Given the description of an element on the screen output the (x, y) to click on. 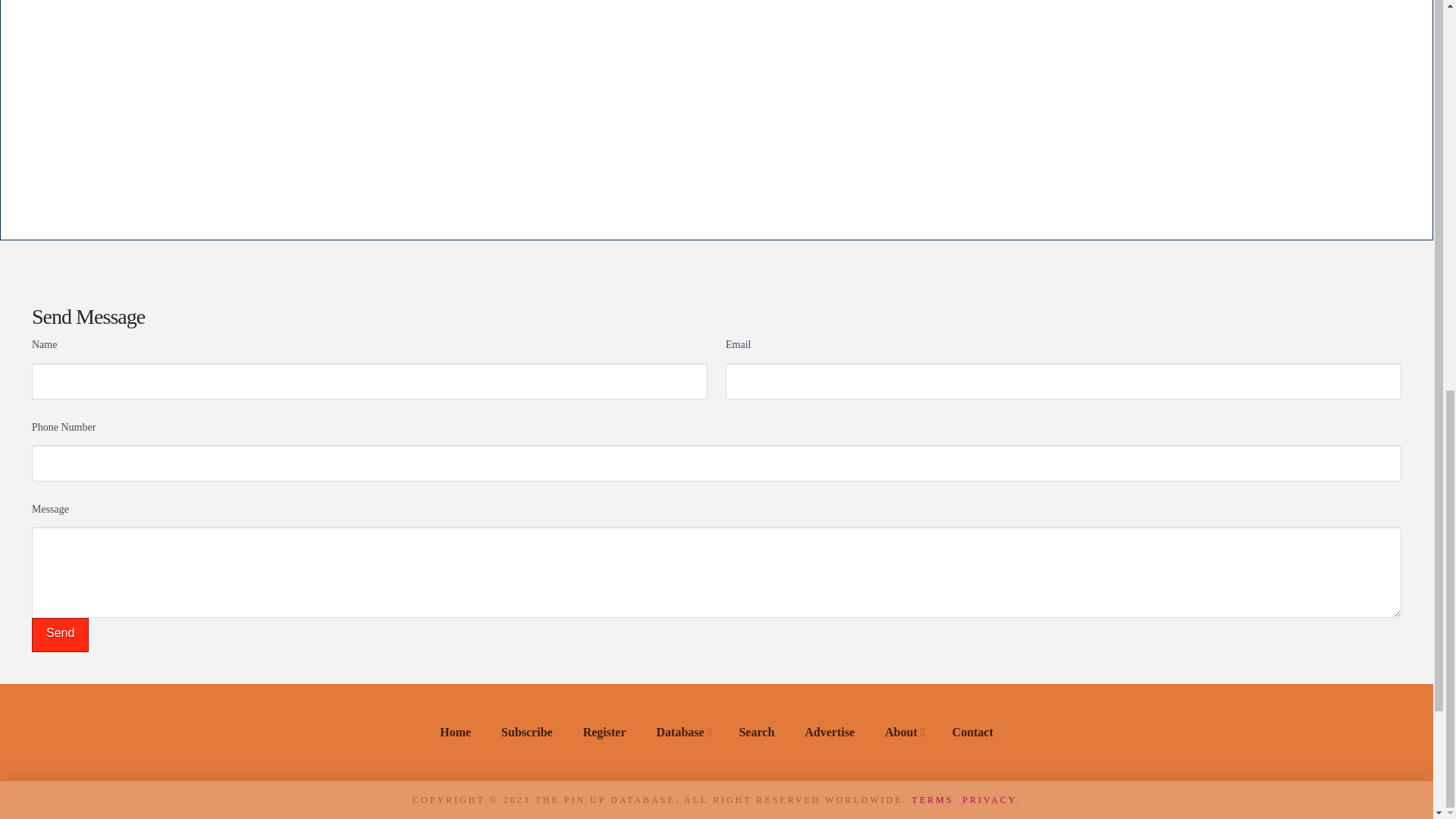
PRIVACY (989, 799)
Send (60, 634)
TERMS (932, 799)
Send (60, 634)
